Given the description of an element on the screen output the (x, y) to click on. 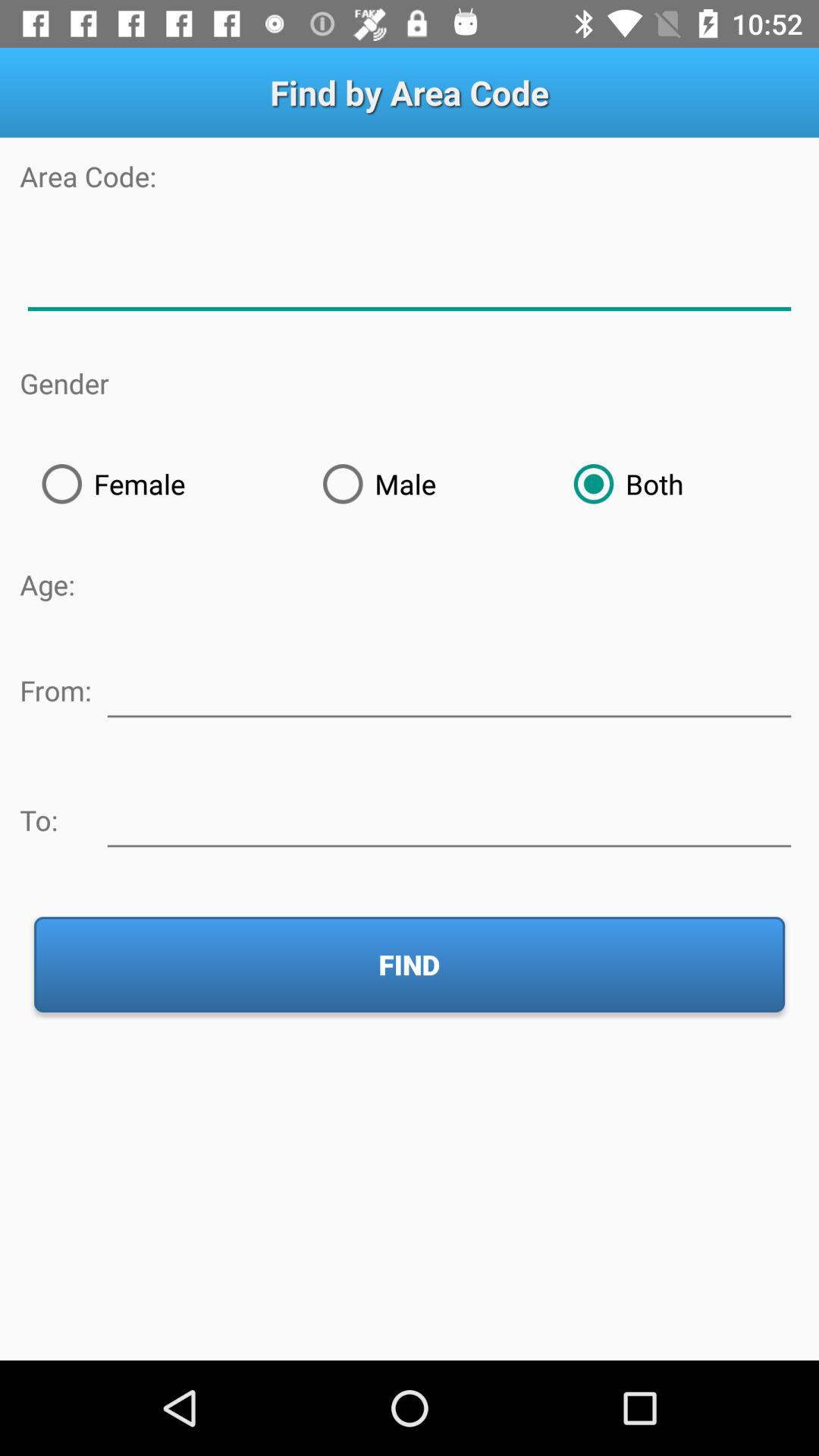
select icon below the gender (160, 483)
